Given the description of an element on the screen output the (x, y) to click on. 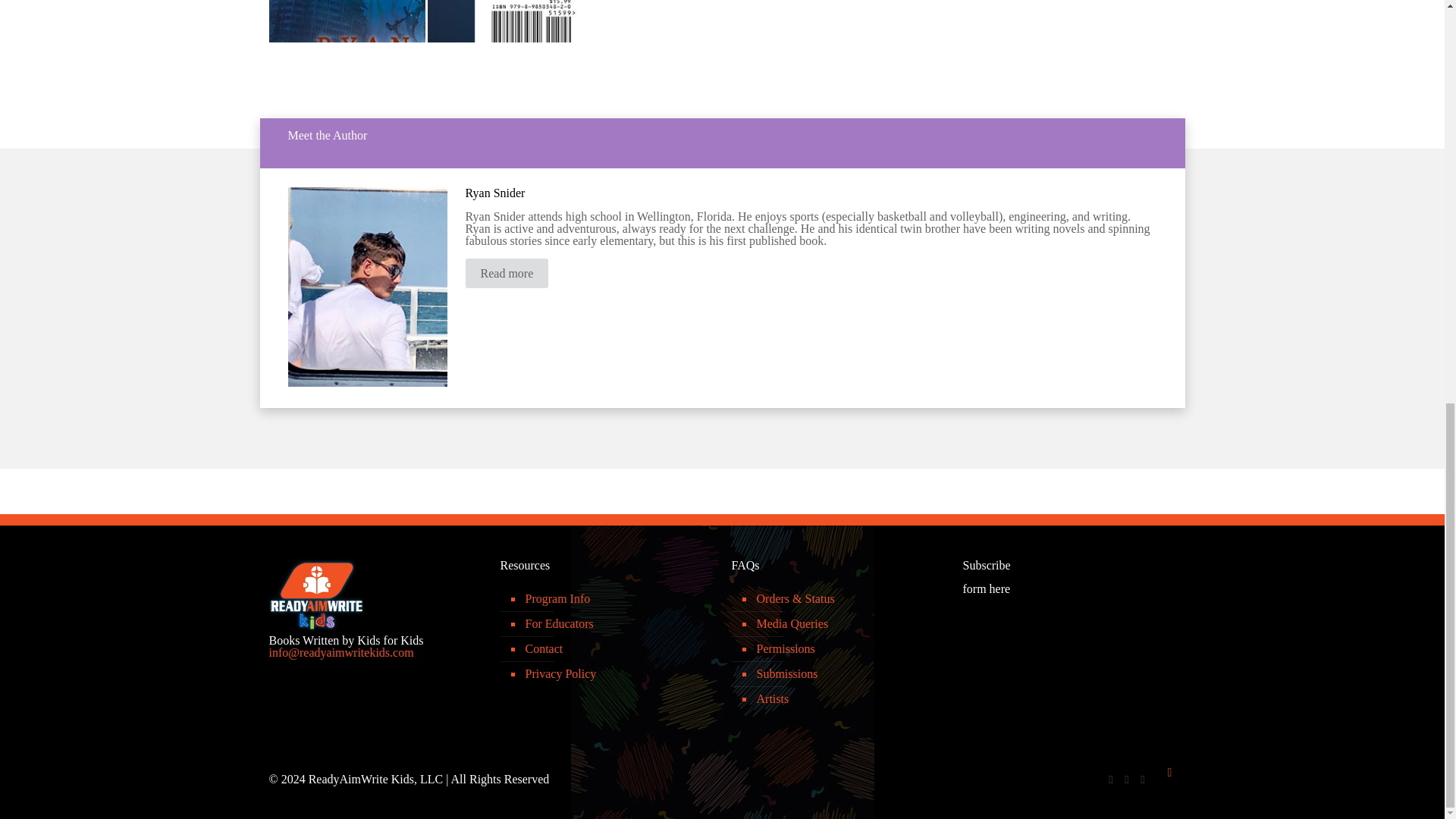
YouTube (1142, 779)
Artists (845, 699)
Permissions (845, 649)
Facebook (1110, 779)
For Educators (614, 624)
Read more (506, 273)
Contact (614, 649)
Media Queries (845, 624)
Program Info (614, 599)
Submissions (845, 674)
Privacy Policy (614, 674)
